Given the description of an element on the screen output the (x, y) to click on. 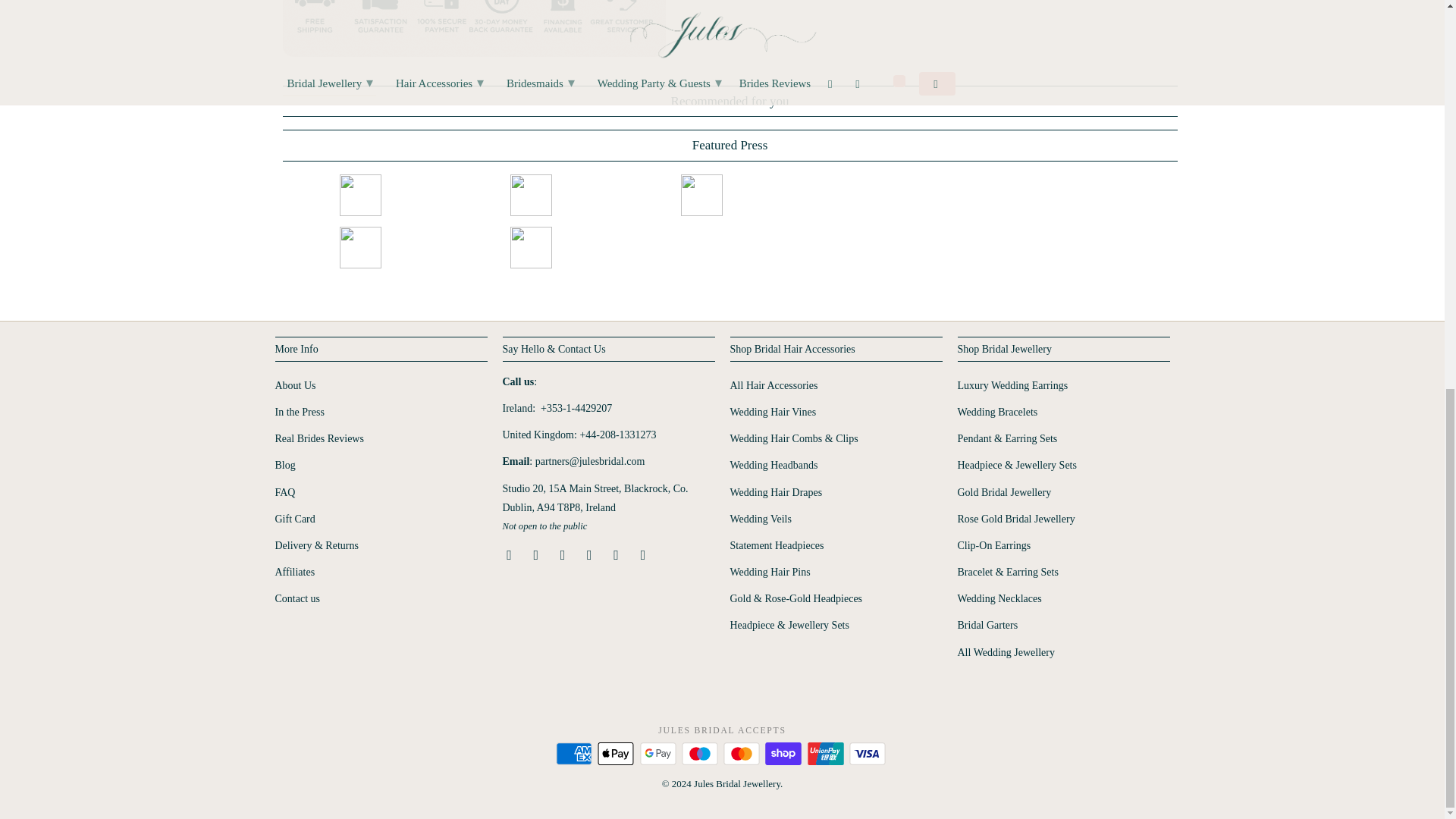
Maestro (700, 753)
Apple Pay (616, 753)
American Express (575, 753)
Visa (868, 753)
Mastercard (742, 753)
Union Pay (827, 753)
Google Pay (659, 753)
Shop Pay (785, 753)
